Given the description of an element on the screen output the (x, y) to click on. 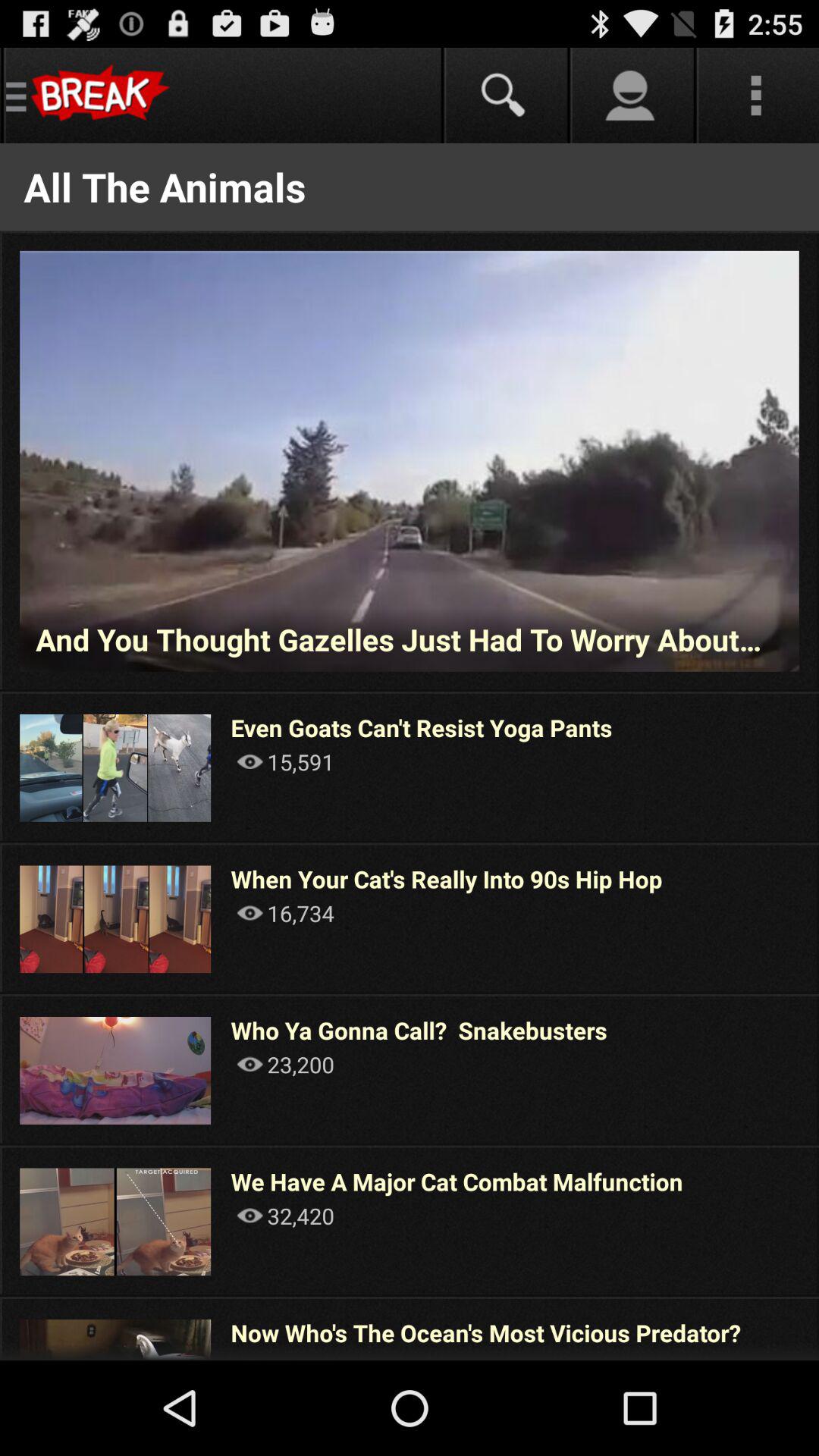
tap and you thought item (409, 639)
